Given the description of an element on the screen output the (x, y) to click on. 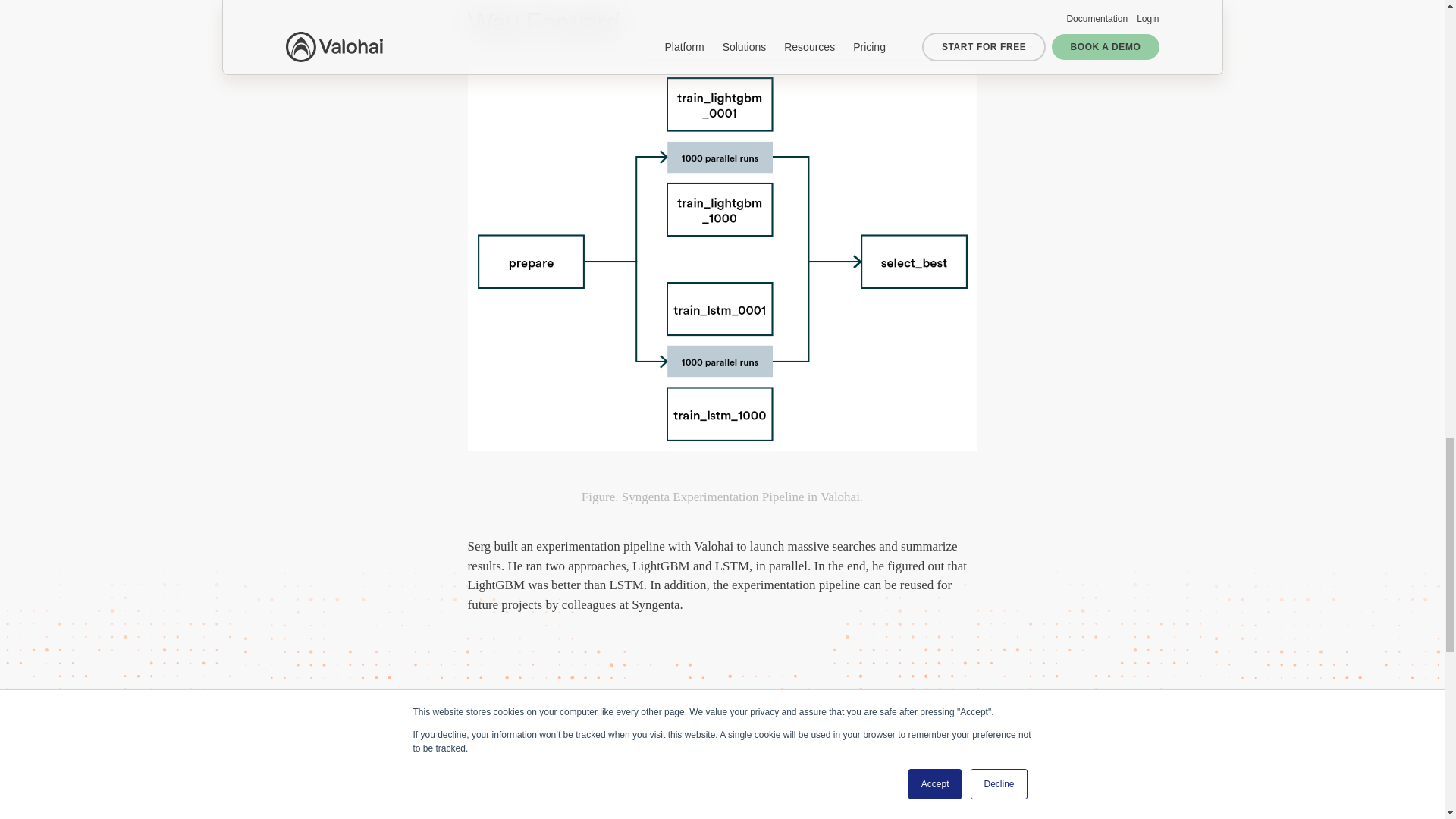
How to Ensure Traceability and Eliminate Data Inconsistency (810, 771)
Enjoy Hugging Face's model library with Valohai's templates (597, 771)
Why closed-source LLMs are not suited for production (382, 771)
